Given the description of an element on the screen output the (x, y) to click on. 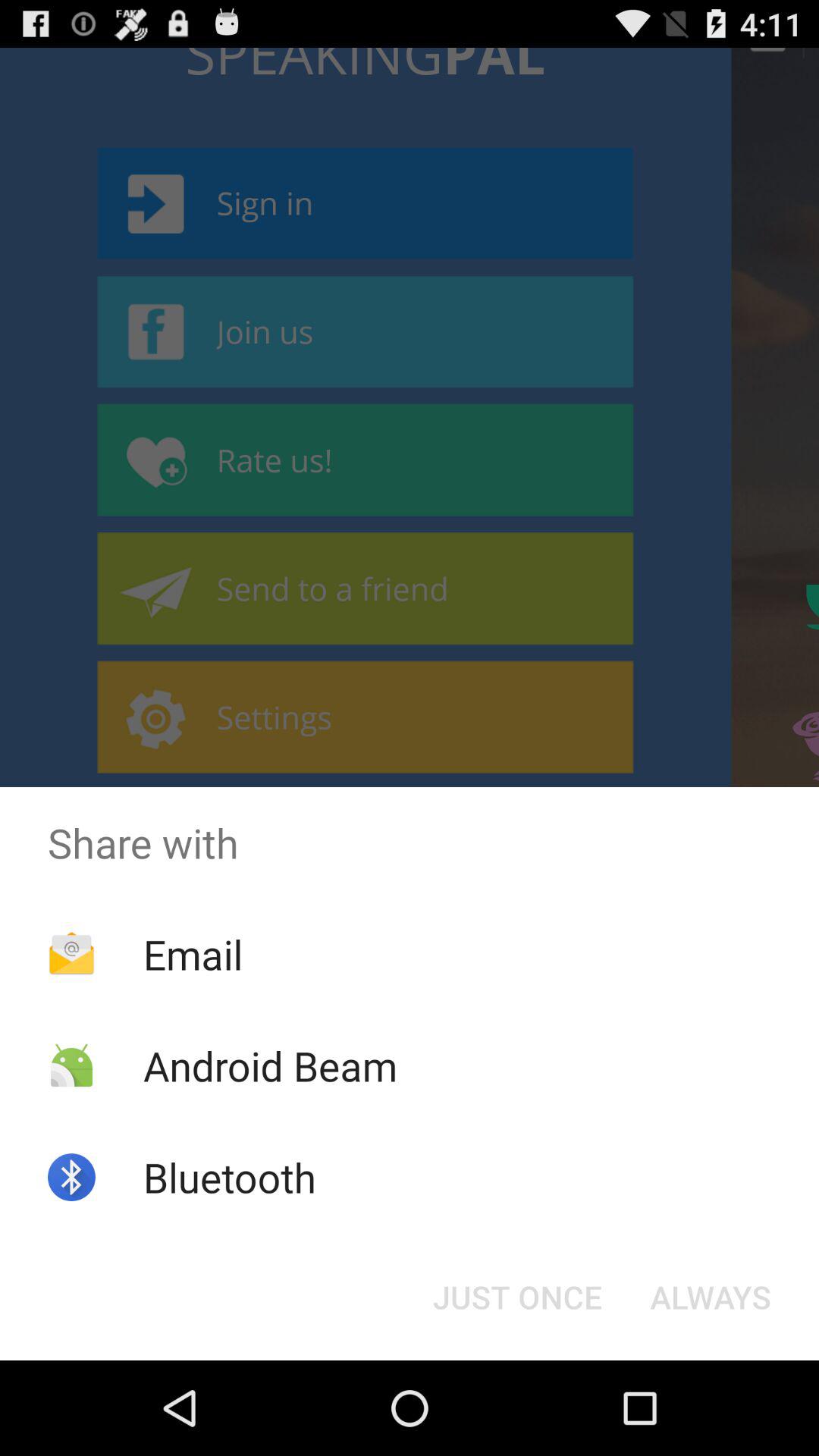
scroll to just once item (517, 1296)
